Given the description of an element on the screen output the (x, y) to click on. 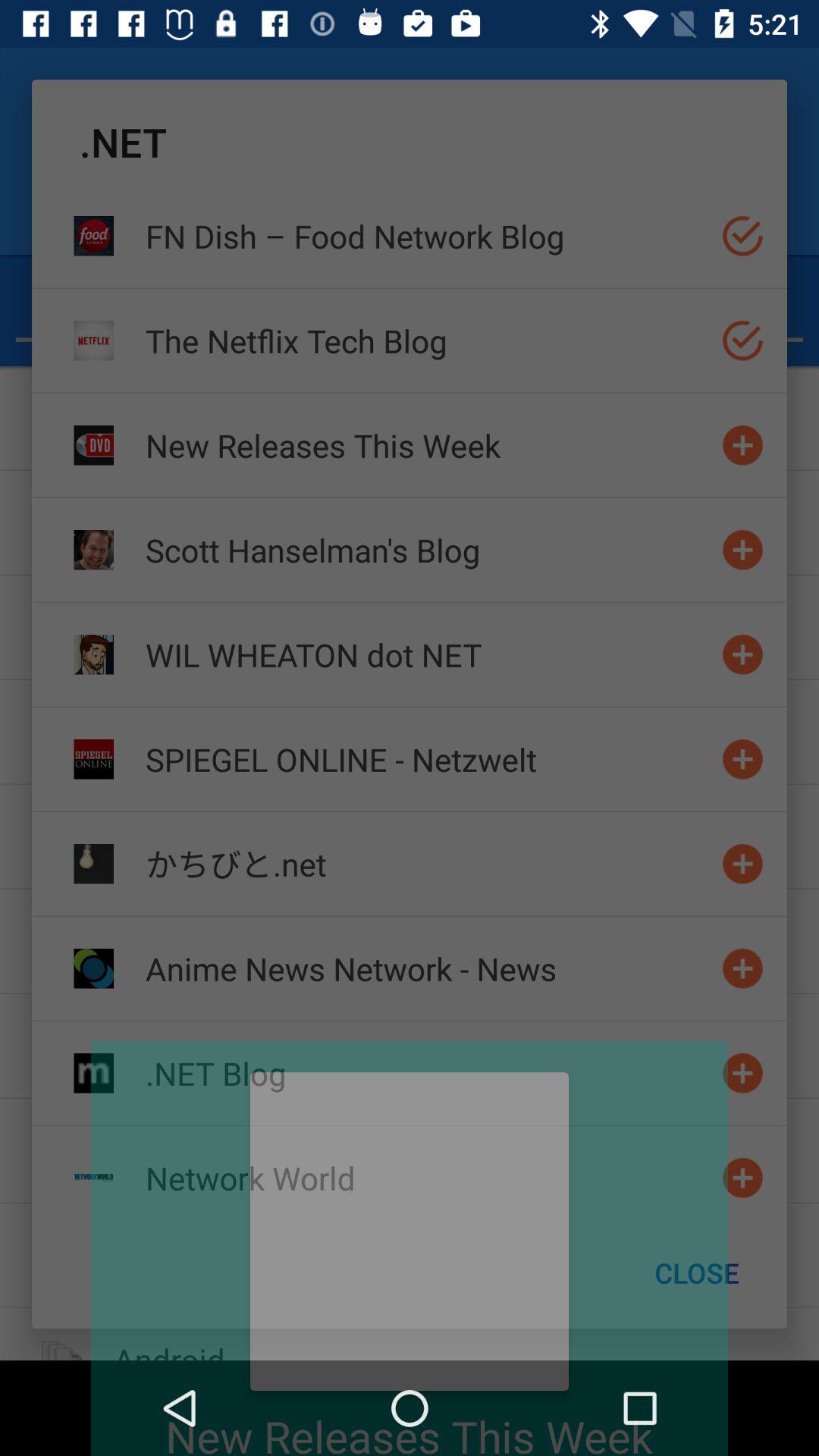
scroll until the new releases this item (426, 444)
